Given the description of an element on the screen output the (x, y) to click on. 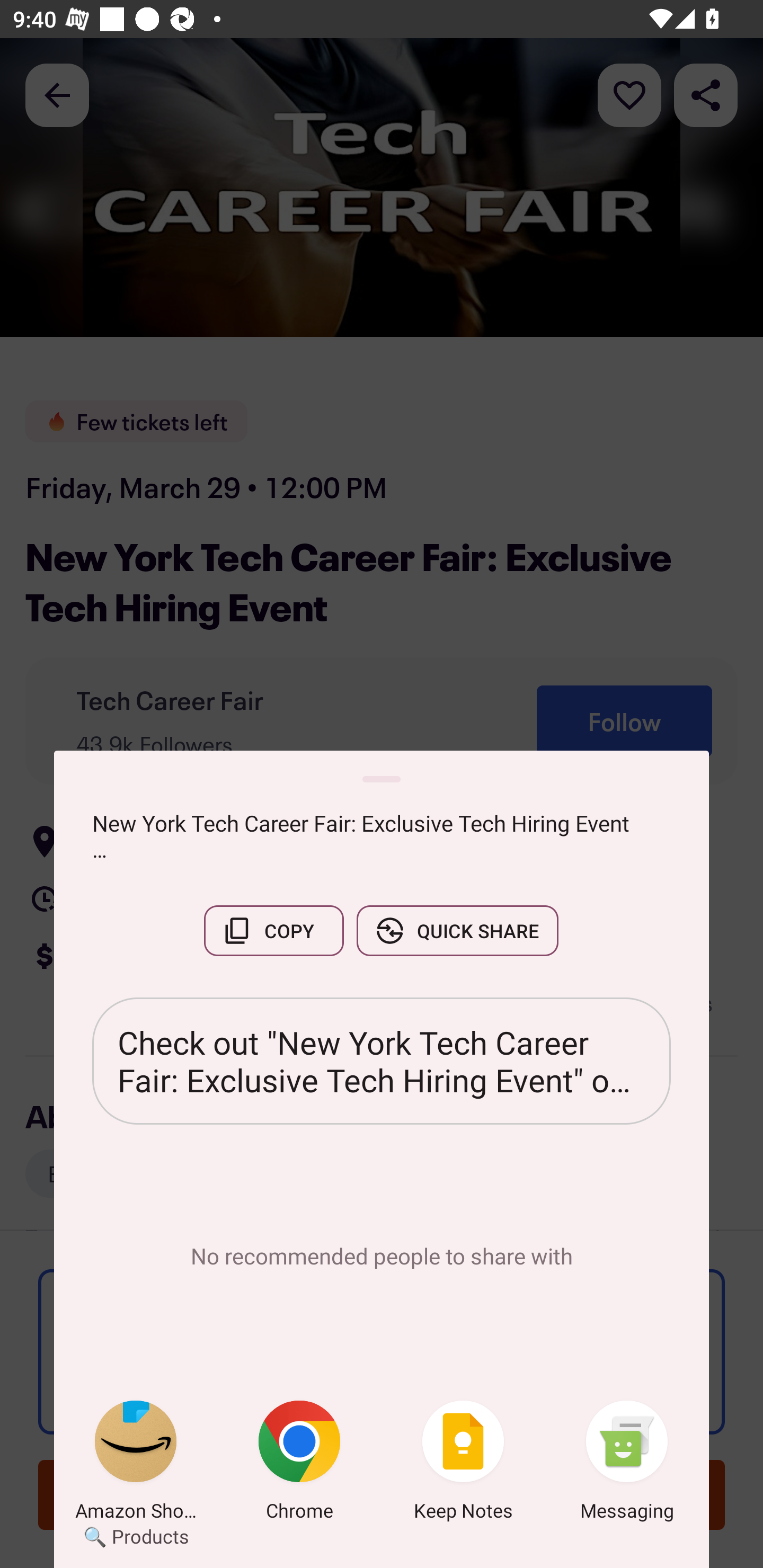
COPY (273, 930)
QUICK SHARE (457, 930)
Amazon Shopping 🔍 Products (135, 1463)
Chrome (299, 1463)
Keep Notes (463, 1463)
Messaging (626, 1463)
